Given the description of an element on the screen output the (x, y) to click on. 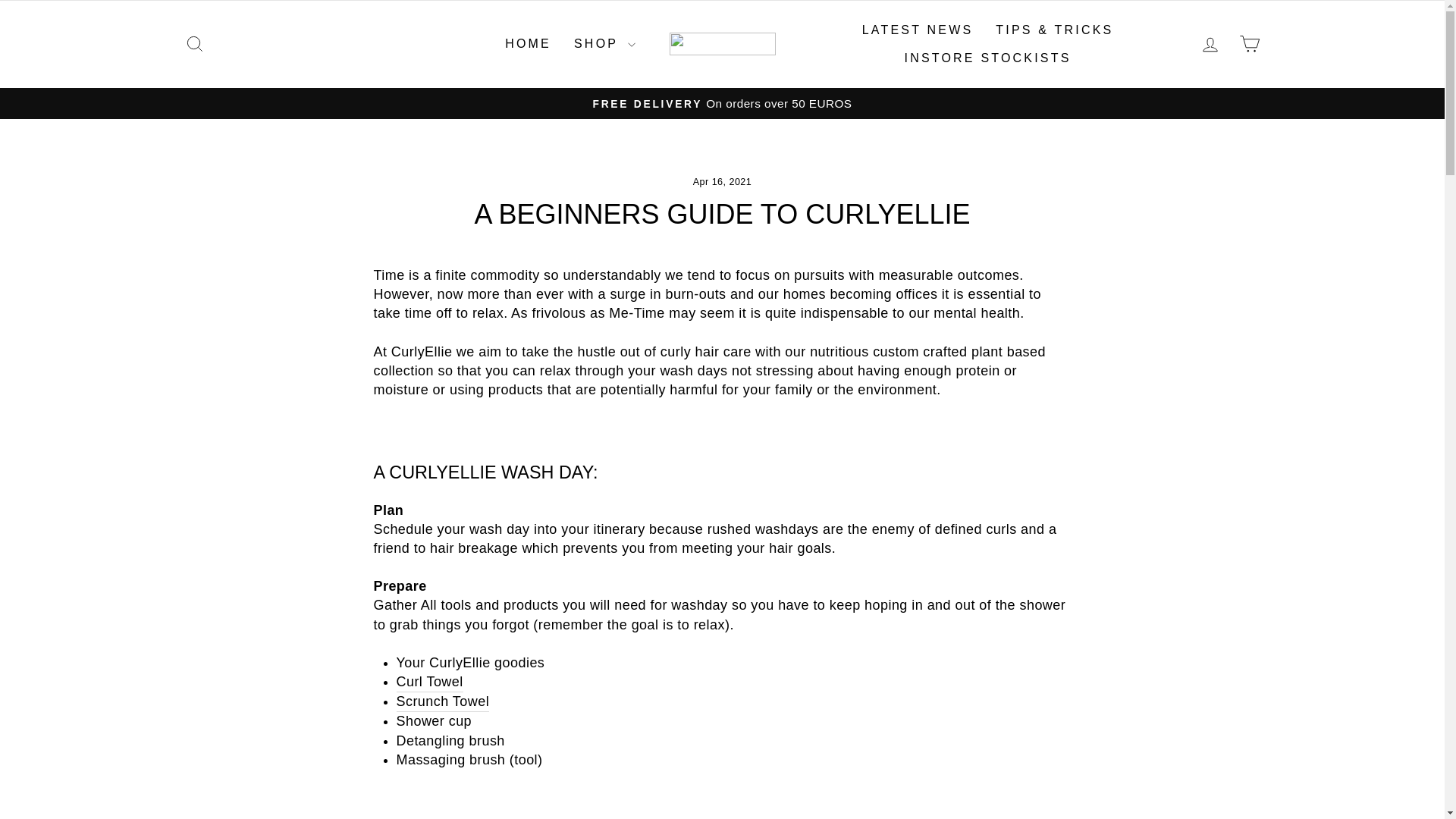
ACCOUNT (1210, 44)
CurlyEllie Curl Towel (429, 682)
ICON-SEARCH (194, 43)
CurlyEllie Scrunch Towel (442, 701)
